Given the description of an element on the screen output the (x, y) to click on. 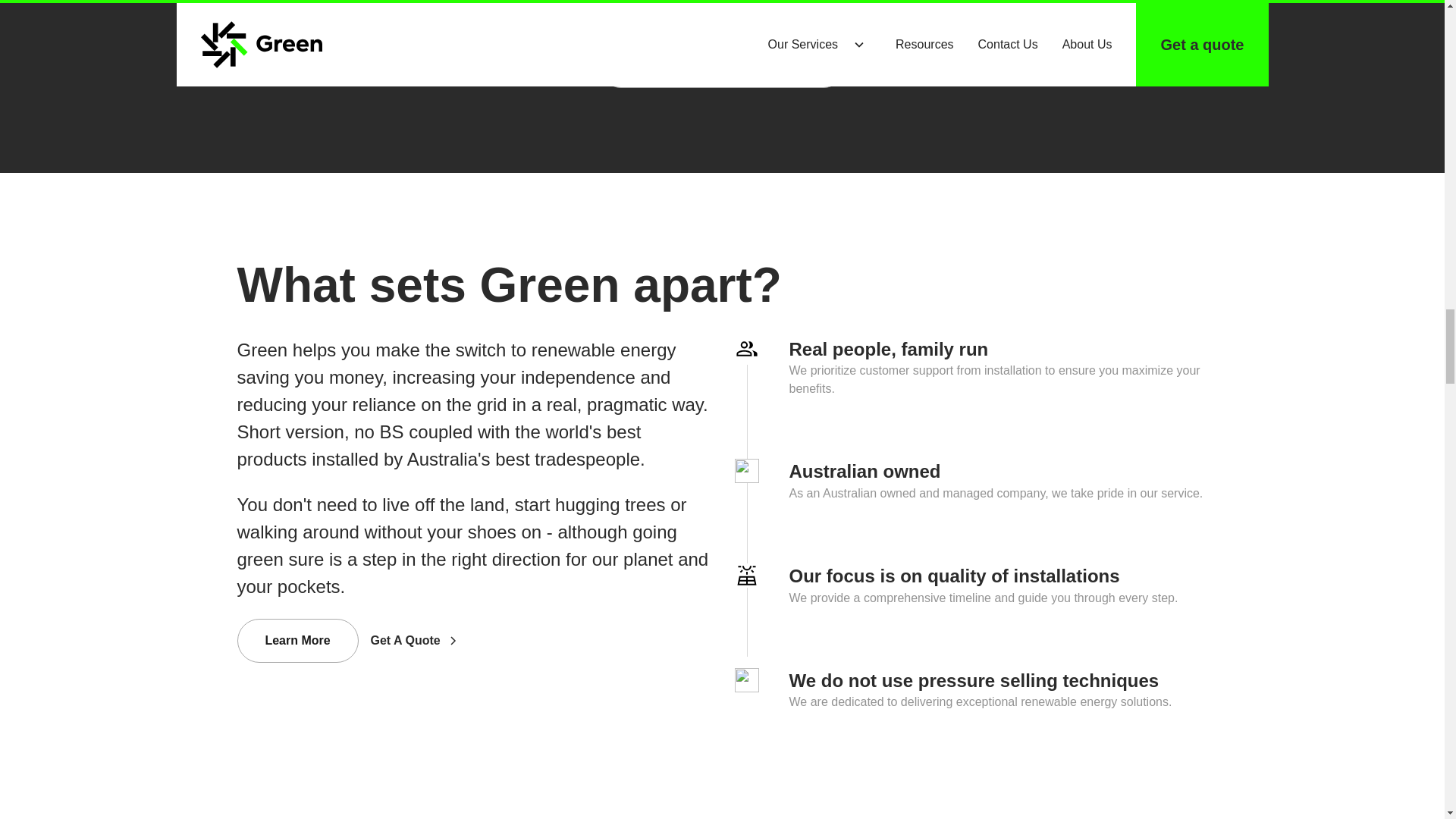
Learn more about Commercial Solar (721, 65)
Learn More (296, 640)
Get A Quote (430, 640)
